Given the description of an element on the screen output the (x, y) to click on. 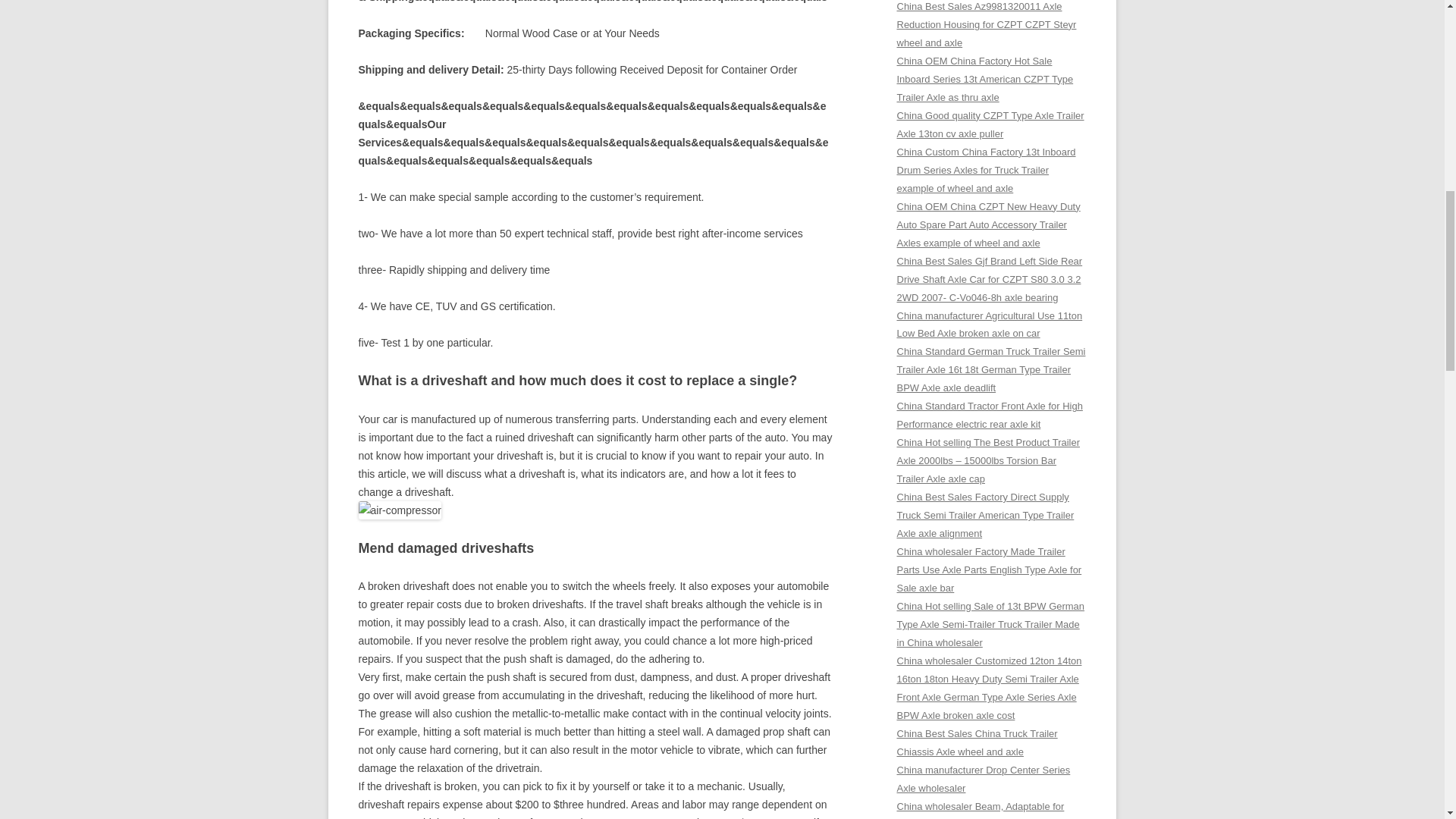
China manufacturer Drop Center Series Axle wholesaler (983, 778)
